Given the description of an element on the screen output the (x, y) to click on. 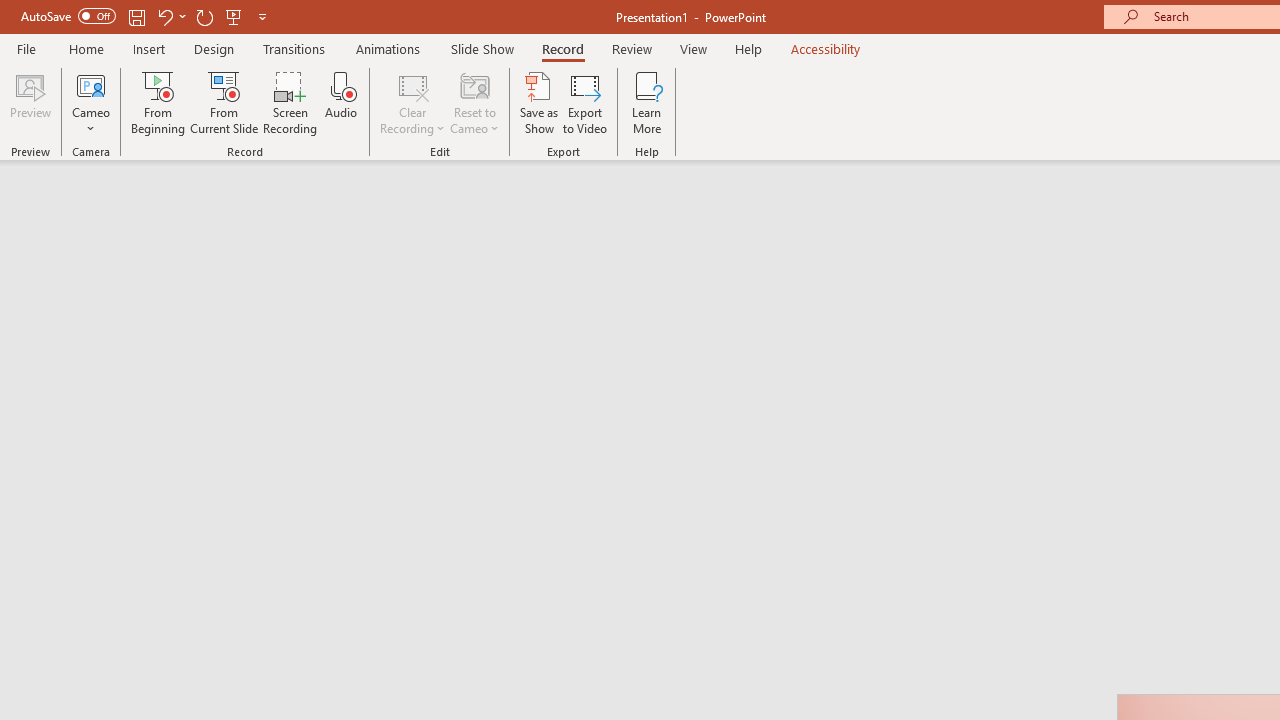
From Beginning... (158, 102)
